Given the description of an element on the screen output the (x, y) to click on. 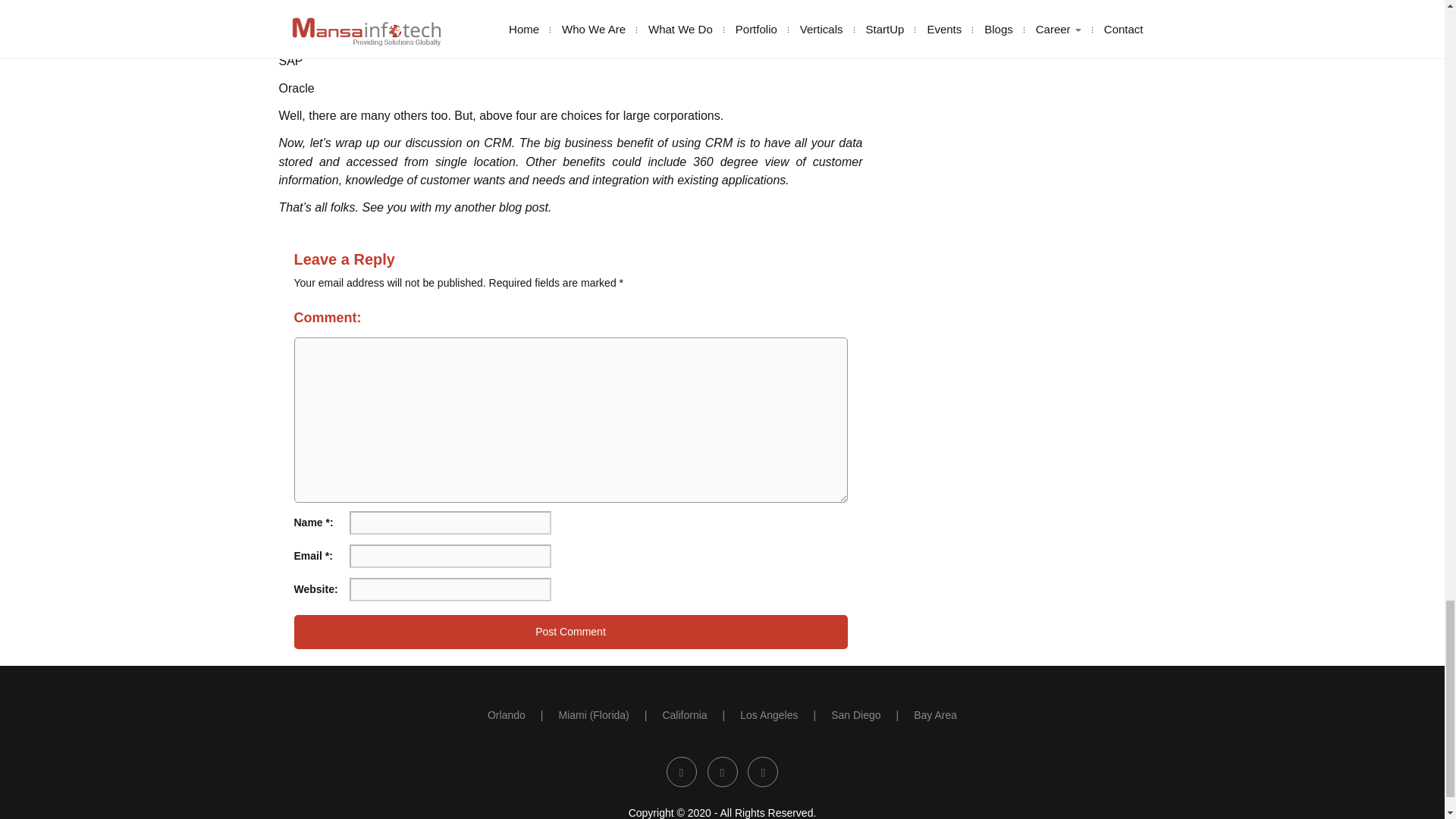
Post Comment (570, 632)
Post Comment (570, 632)
